Given the description of an element on the screen output the (x, y) to click on. 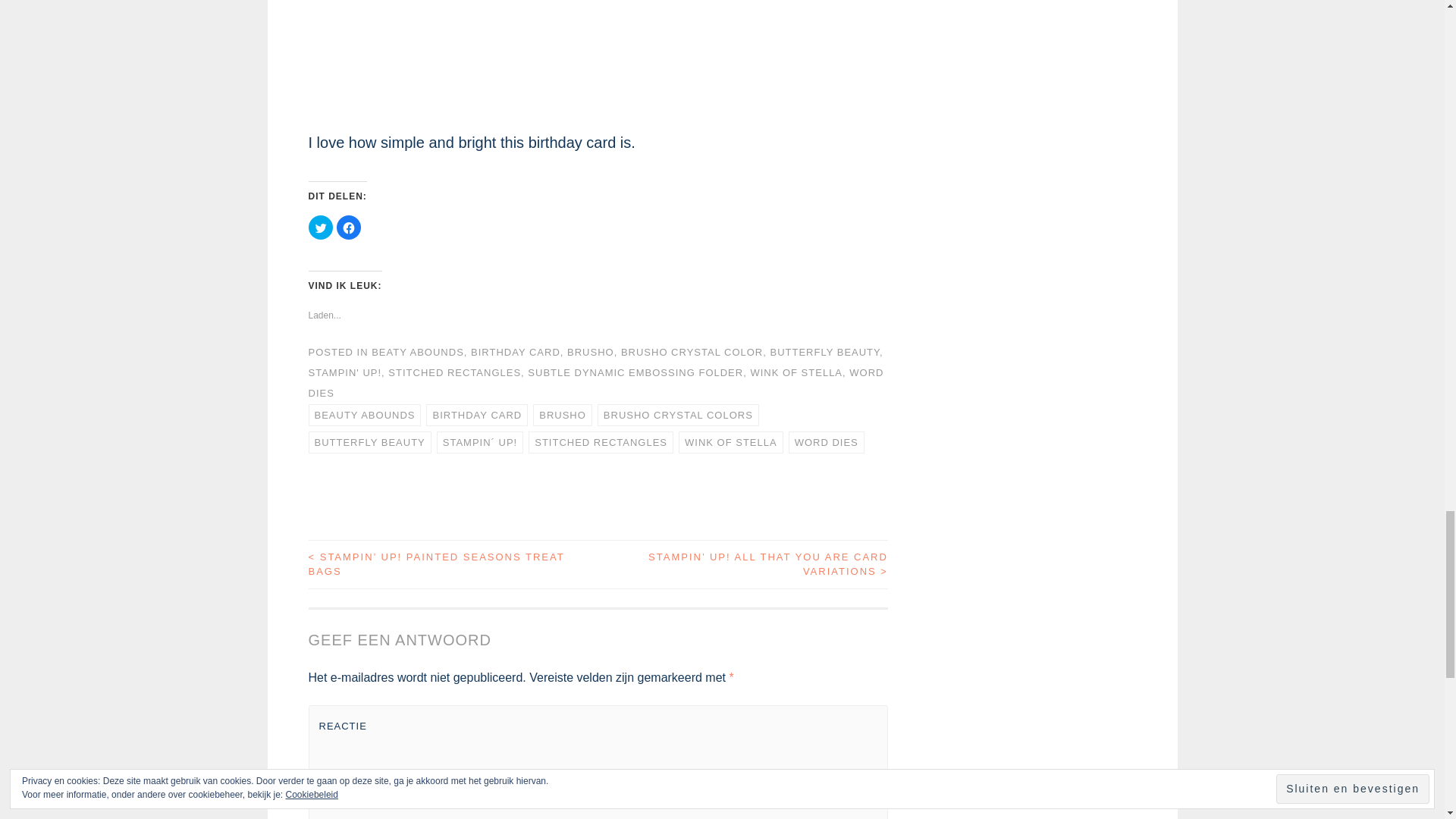
BRUSHO CRYSTAL COLOR (691, 351)
STITCHED RECTANGLES (454, 372)
BRUSHO (562, 414)
STITCHED RECTANGLES (600, 442)
BIRTHDAY CARD (476, 414)
WORD DIES (826, 442)
BEAUTY ABOUNDS (363, 414)
WINK OF STELLA (796, 372)
Klik om te delen met Twitter (319, 227)
STAMPIN' UP! (344, 372)
